Given the description of an element on the screen output the (x, y) to click on. 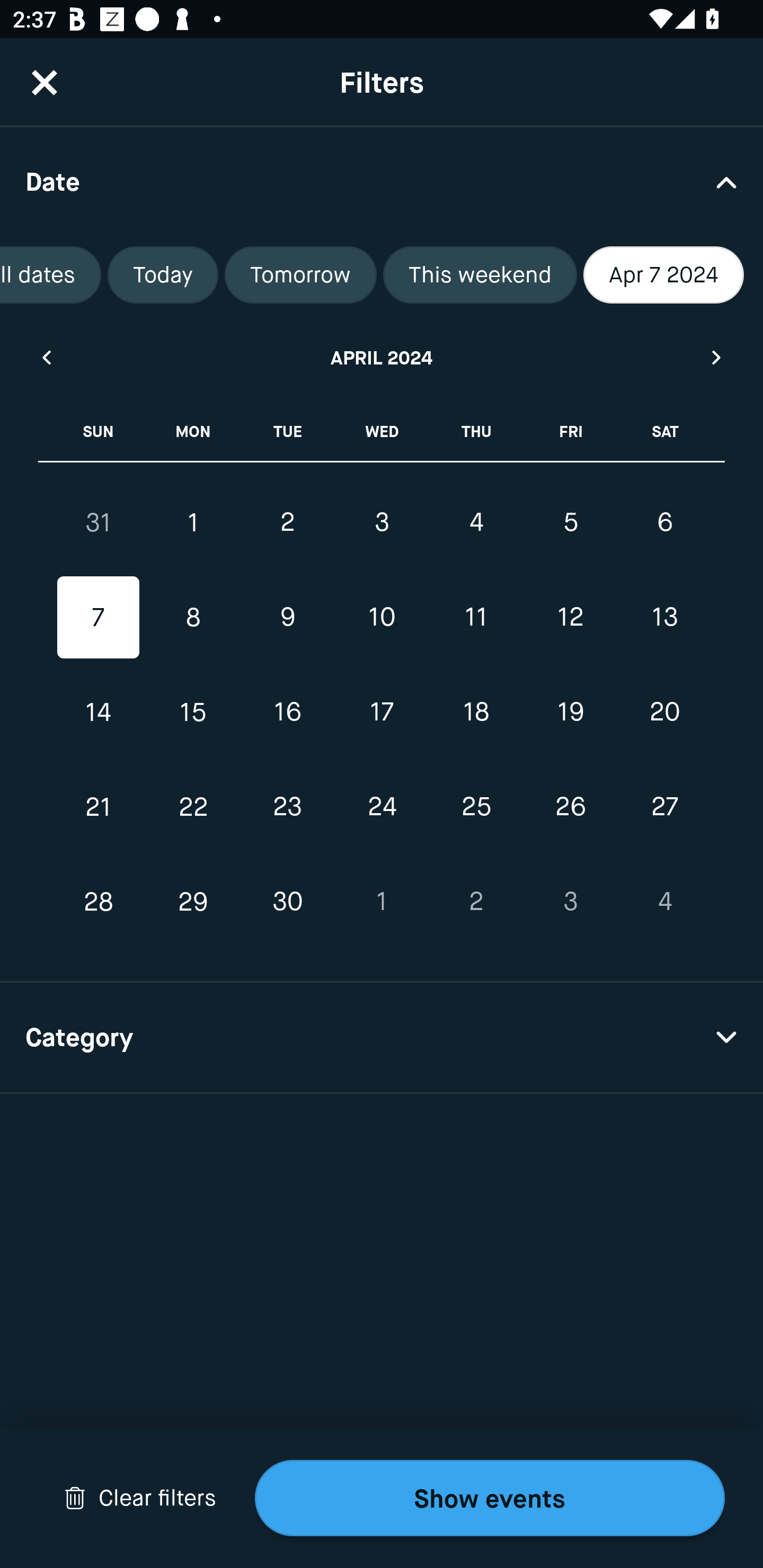
CloseButton (44, 82)
Date Drop Down Arrow (381, 181)
All dates (50, 274)
Today (162, 274)
Tomorrow (300, 274)
This weekend (479, 274)
Apr 7 2024 (663, 274)
Previous (45, 357)
Next (717, 357)
31 (98, 522)
1 (192, 522)
2 (287, 522)
3 (381, 522)
4 (475, 522)
5 (570, 522)
6 (664, 522)
7 (98, 617)
8 (192, 617)
9 (287, 617)
10 (381, 617)
11 (475, 617)
12 (570, 617)
13 (664, 617)
14 (98, 711)
15 (192, 711)
16 (287, 711)
17 (381, 711)
18 (475, 711)
19 (570, 711)
20 (664, 711)
21 (98, 806)
22 (192, 806)
23 (287, 806)
24 (381, 806)
25 (475, 806)
26 (570, 806)
27 (664, 806)
28 (98, 901)
29 (192, 901)
30 (287, 901)
1 (381, 901)
2 (475, 901)
3 (570, 901)
4 (664, 901)
Category Drop Down Arrow (381, 1038)
Drop Down Arrow Clear filters (139, 1497)
Show events (489, 1497)
